Given the description of an element on the screen output the (x, y) to click on. 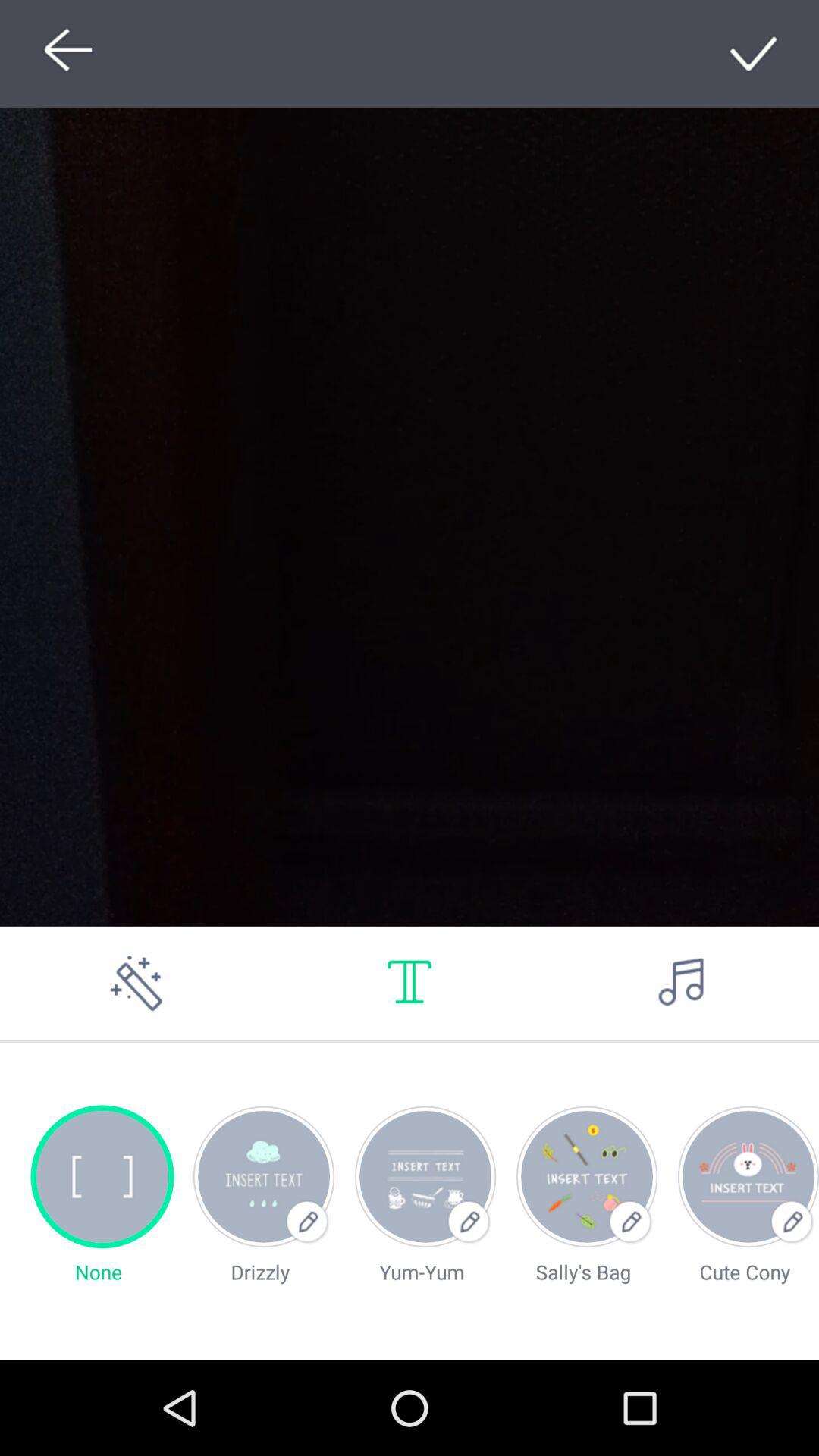
add sound or music (682, 983)
